Given the description of an element on the screen output the (x, y) to click on. 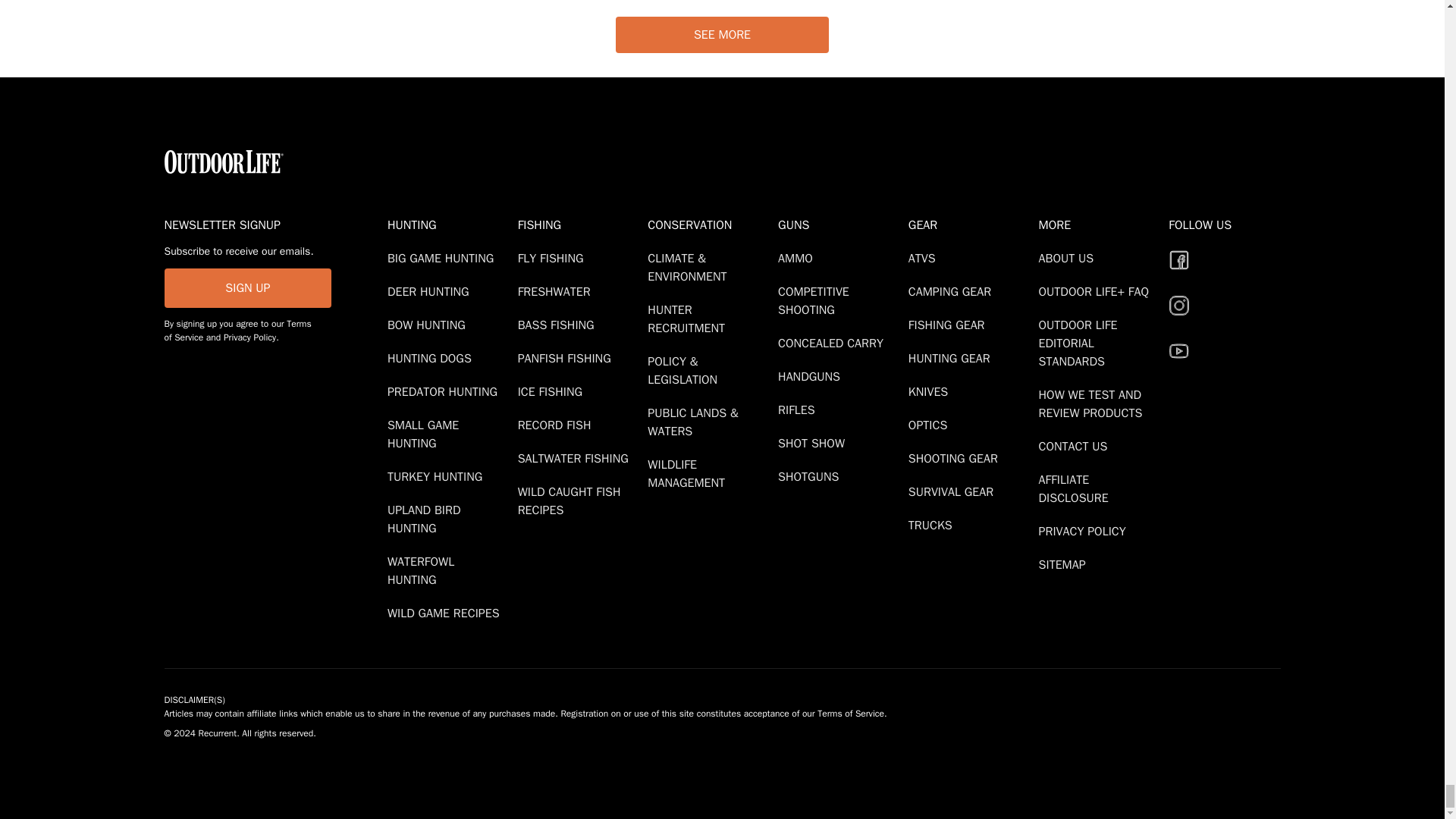
Big Game Hunting (443, 258)
Fly Fishing (553, 258)
Fishing (580, 225)
Deer Hunting (431, 291)
Conservation (709, 225)
Hunting (449, 225)
